Given the description of an element on the screen output the (x, y) to click on. 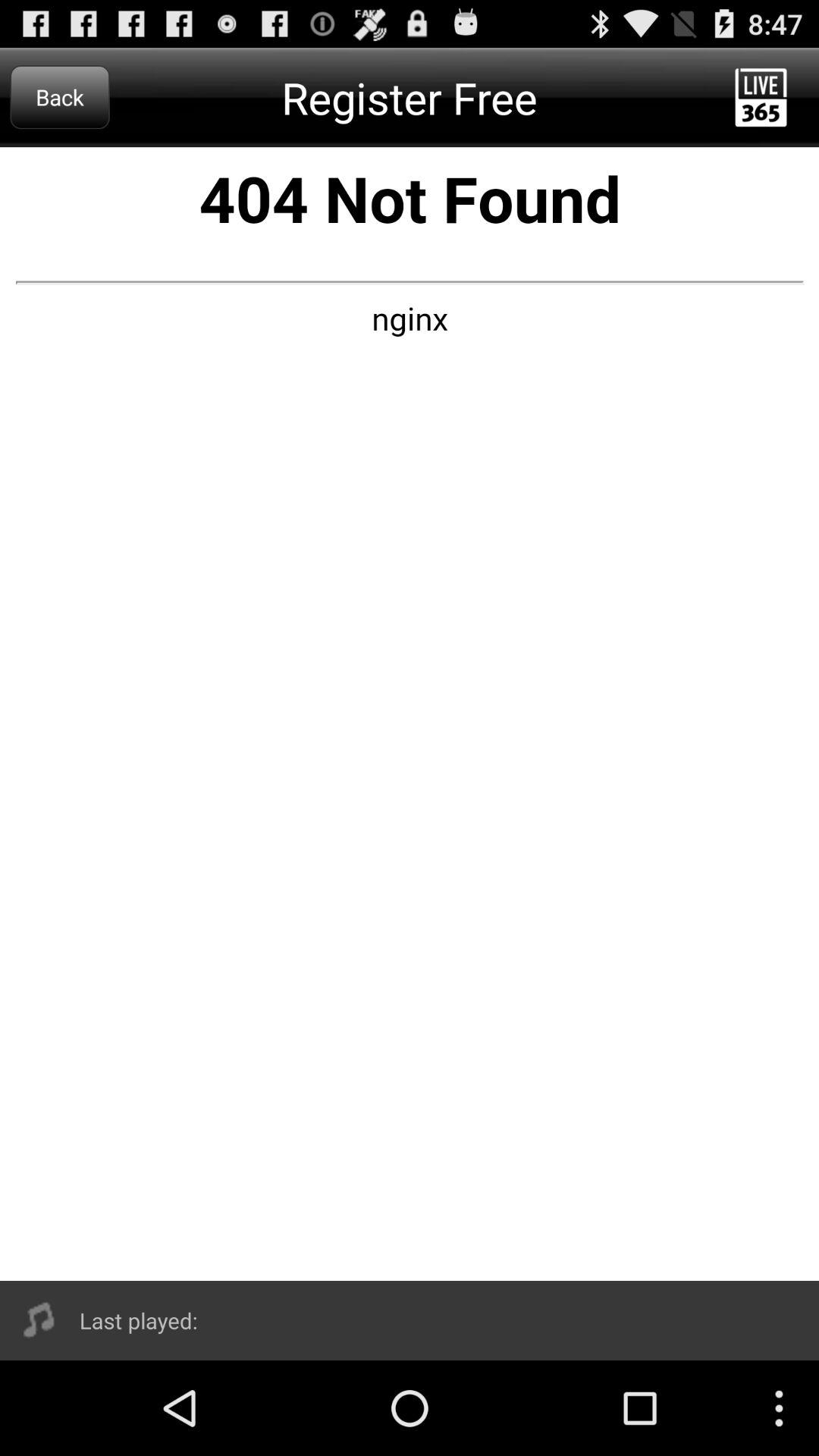
advertisememt (409, 713)
